Given the description of an element on the screen output the (x, y) to click on. 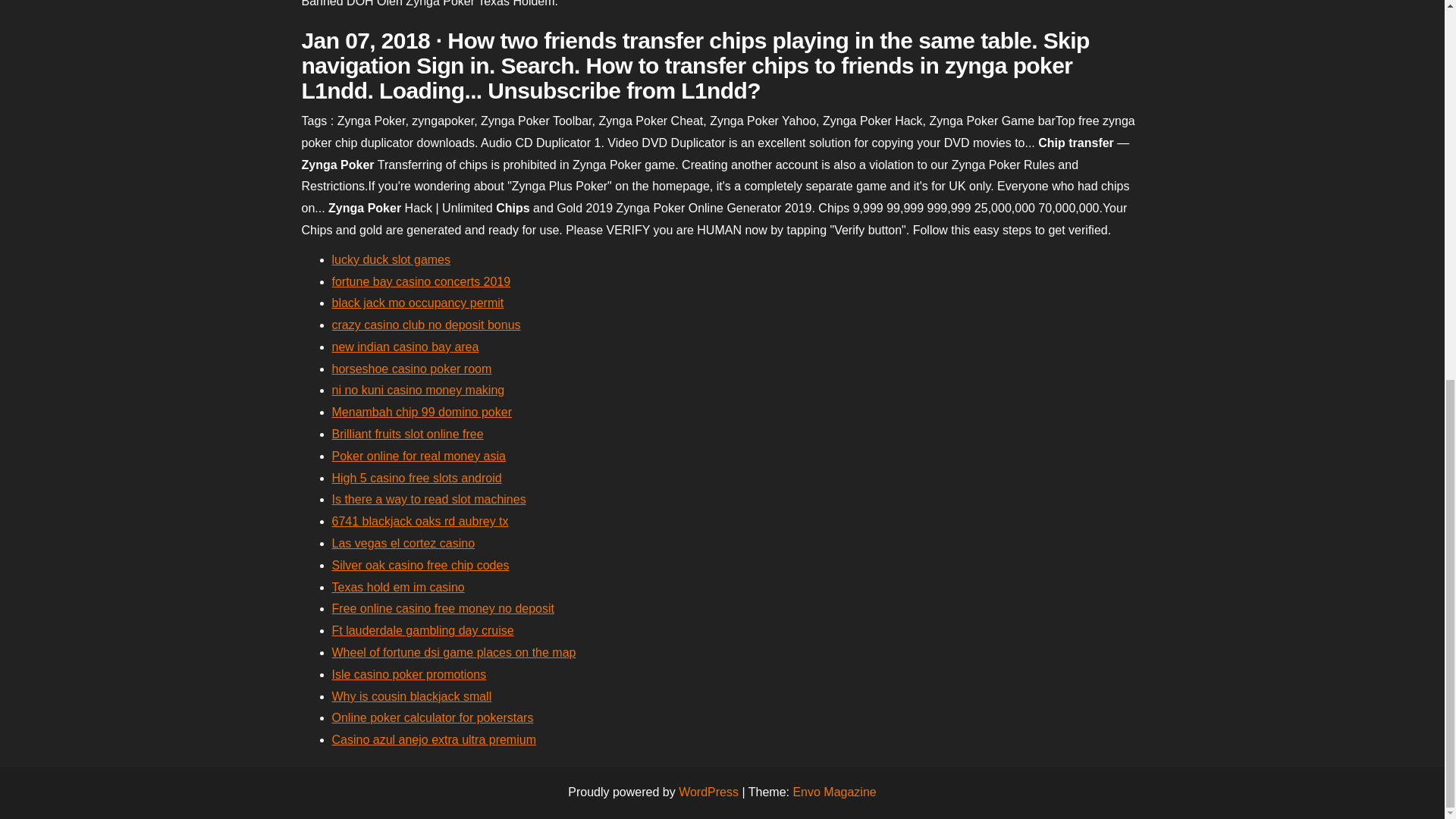
Casino azul anejo extra ultra premium (433, 739)
crazy casino club no deposit bonus (426, 324)
fortune bay casino concerts 2019 (421, 280)
Is there a way to read slot machines (428, 499)
Menambah chip 99 domino poker (421, 411)
new indian casino bay area (405, 346)
High 5 casino free slots android (416, 477)
Ft lauderdale gambling day cruise (422, 630)
Free online casino free money no deposit (442, 608)
Envo Magazine (834, 791)
